Given the description of an element on the screen output the (x, y) to click on. 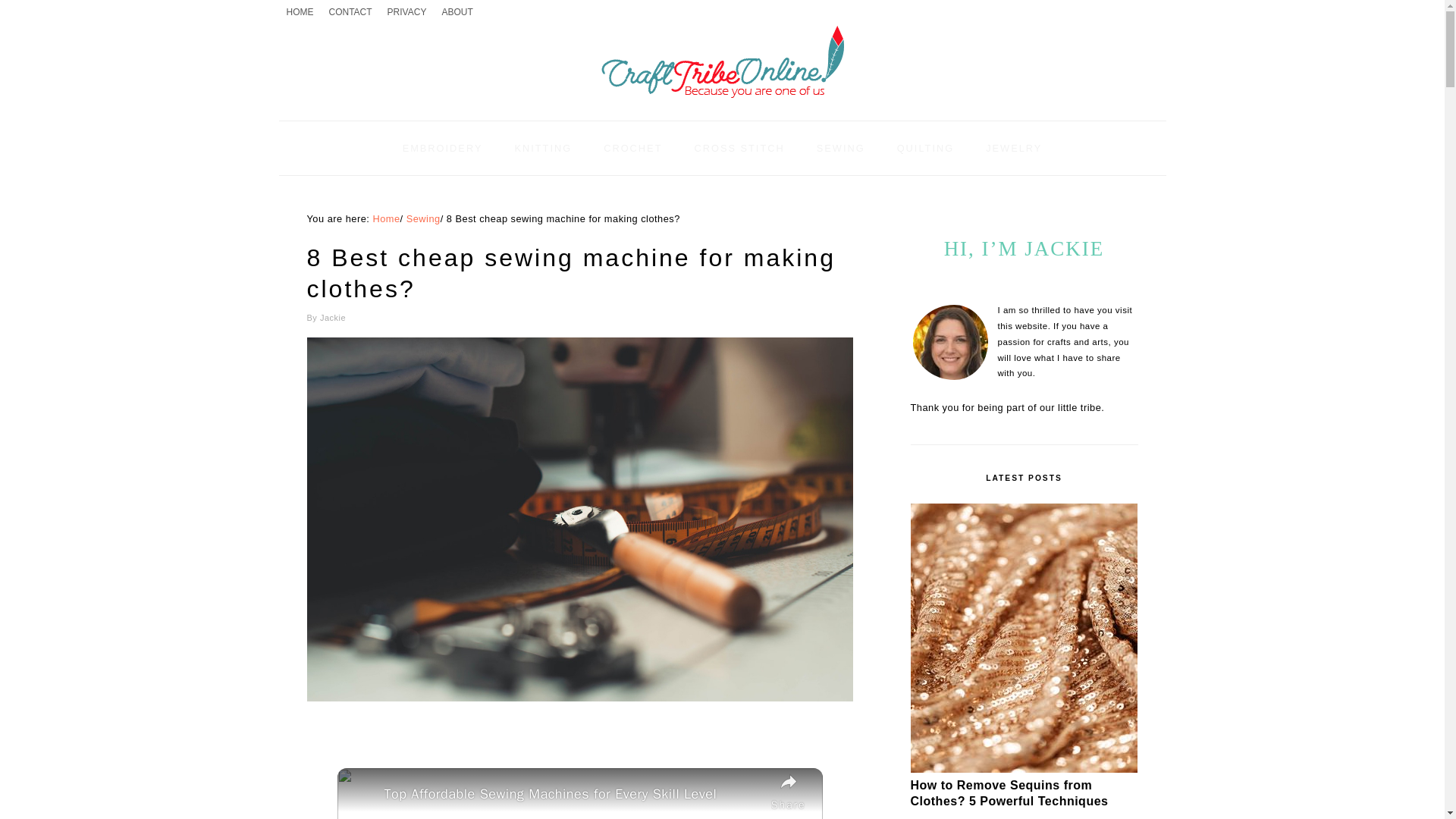
Jackie (333, 317)
ABOUT (456, 12)
SEWING (840, 147)
PRIVACY (406, 12)
CROSS STITCH (738, 147)
How to Remove Sequins from Clothes? 5 Powerful Techniques (1023, 768)
EMBROIDERY (443, 147)
CraftTribeOnline.com (721, 102)
Posts by Jackie (333, 317)
Sewing (423, 218)
